Given the description of an element on the screen output the (x, y) to click on. 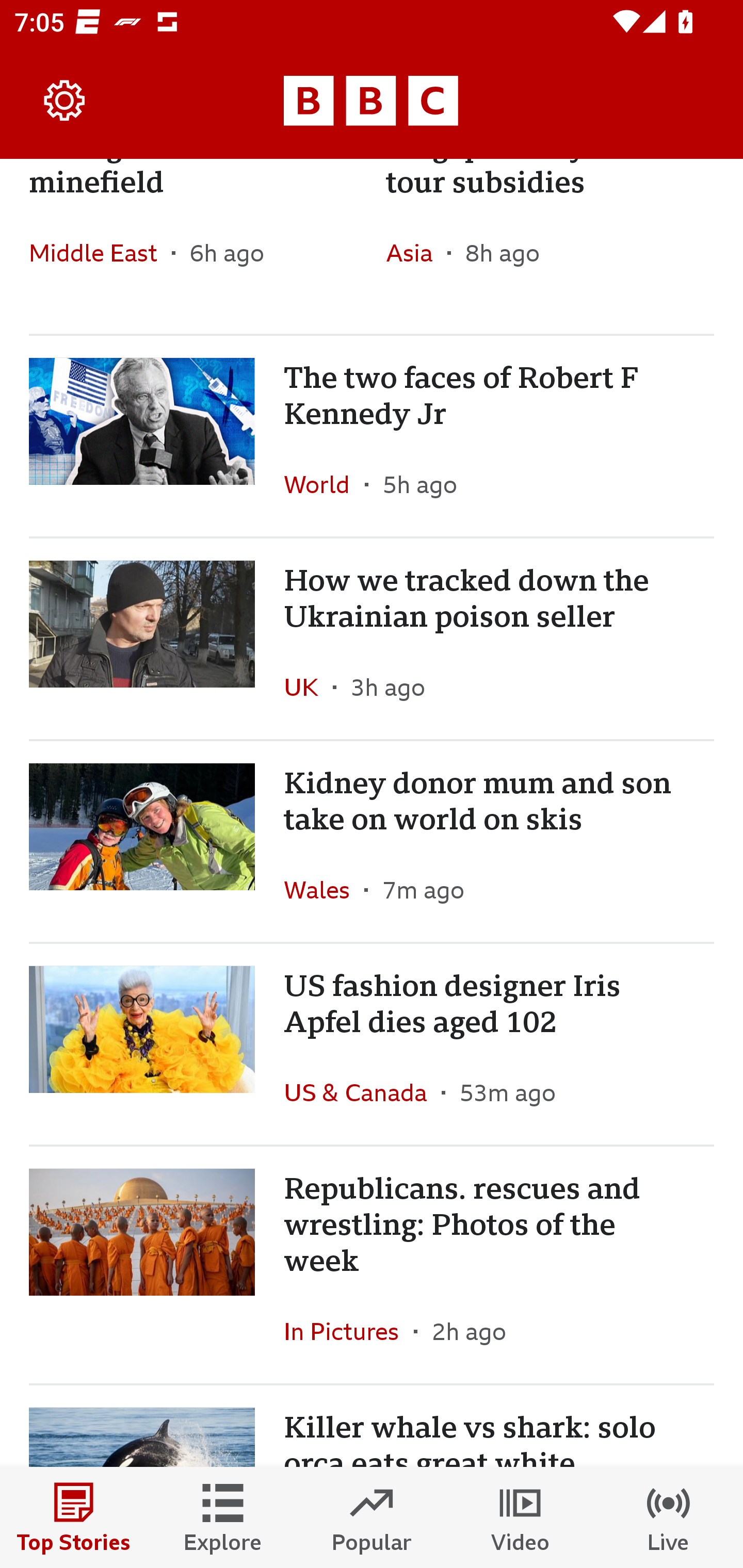
Settings (64, 100)
Middle East In the section Middle East (99, 252)
Asia In the section Asia (416, 252)
World In the section World (323, 484)
UK In the section UK (307, 686)
Wales In the section Wales (323, 889)
US & Canada In the section US & Canada (362, 1091)
In Pictures In the section In Pictures (348, 1330)
Explore (222, 1517)
Popular (371, 1517)
Video (519, 1517)
Live (668, 1517)
